Given the description of an element on the screen output the (x, y) to click on. 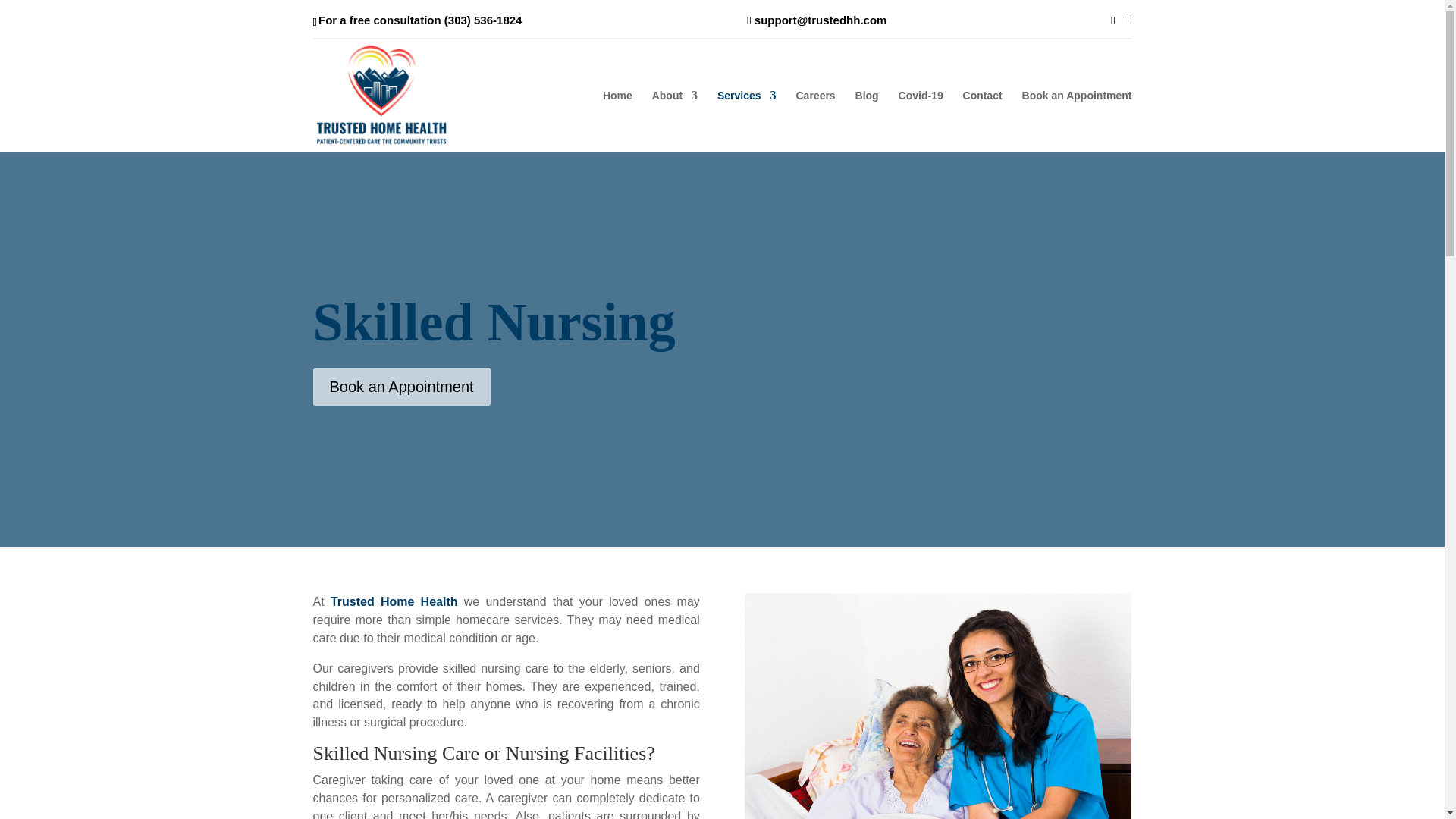
Book an Appointment (1077, 120)
Trusted Home Health (394, 601)
Skilled Nursing in Denver, CO (937, 705)
Services (746, 120)
Book an Appointment (401, 386)
